Given the description of an element on the screen output the (x, y) to click on. 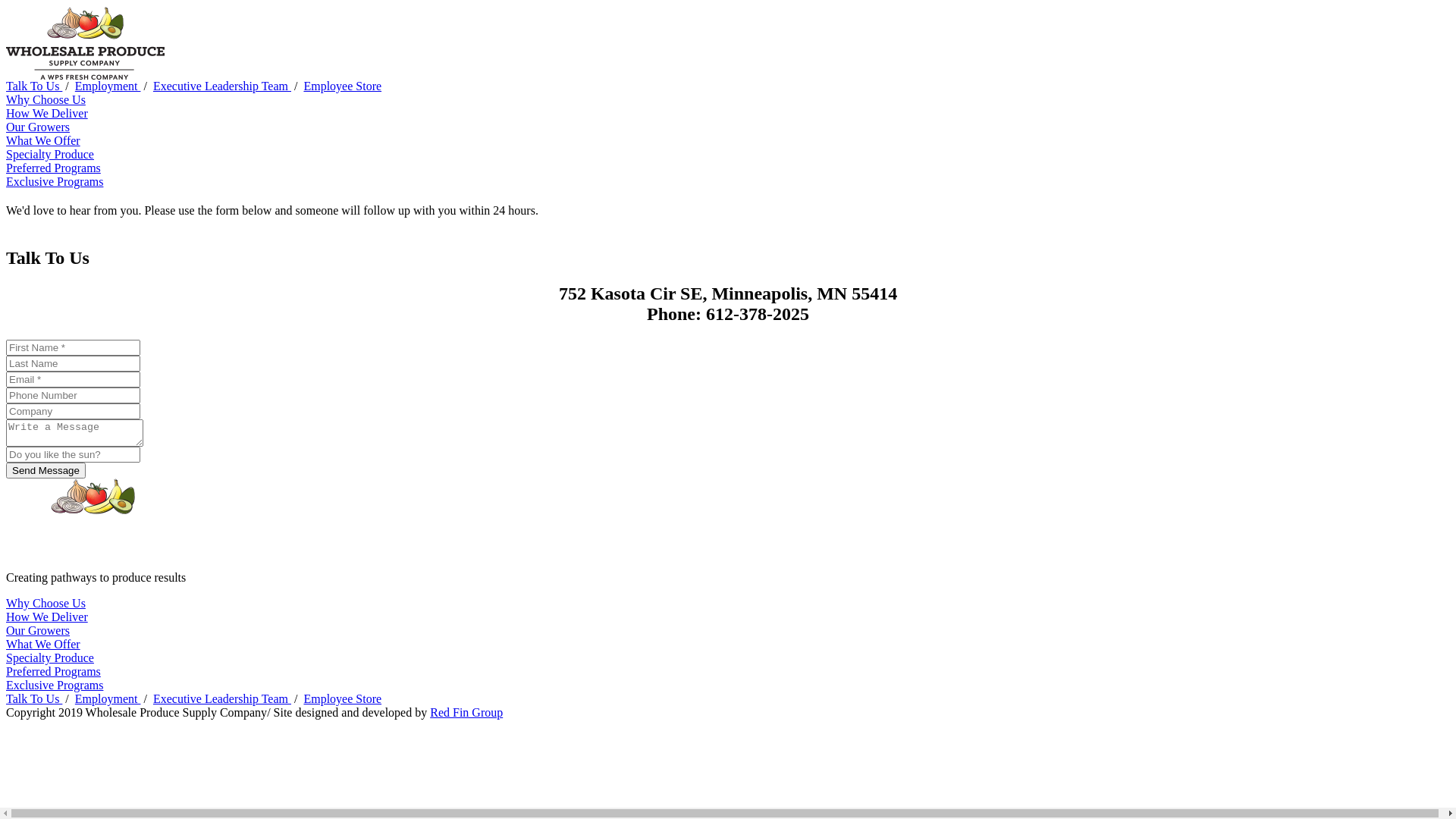
Our Growers Element type: text (37, 126)
Exclusive Programs Element type: text (54, 181)
Preferred Programs Element type: text (53, 671)
Employment Element type: text (108, 85)
Executive Leadership Team Element type: text (222, 85)
Preferred Programs Element type: text (53, 167)
Employee Store Element type: text (342, 85)
Specialty Produce Element type: text (50, 657)
Send Message Element type: text (45, 470)
Specialty Produce Element type: text (50, 153)
Employment Element type: text (108, 698)
Talk To Us Element type: text (34, 698)
Talk To Us Element type: text (34, 85)
Employee Store Element type: text (342, 698)
Red Fin Group Element type: text (465, 712)
Why Choose Us Element type: text (45, 99)
Our Growers Element type: text (37, 630)
How We Deliver Element type: text (46, 616)
How We Deliver Element type: text (46, 112)
Why Choose Us Element type: text (45, 602)
Exclusive Programs Element type: text (54, 684)
Executive Leadership Team Element type: text (222, 698)
What We Offer Element type: text (43, 643)
What We Offer Element type: text (43, 140)
